Given the description of an element on the screen output the (x, y) to click on. 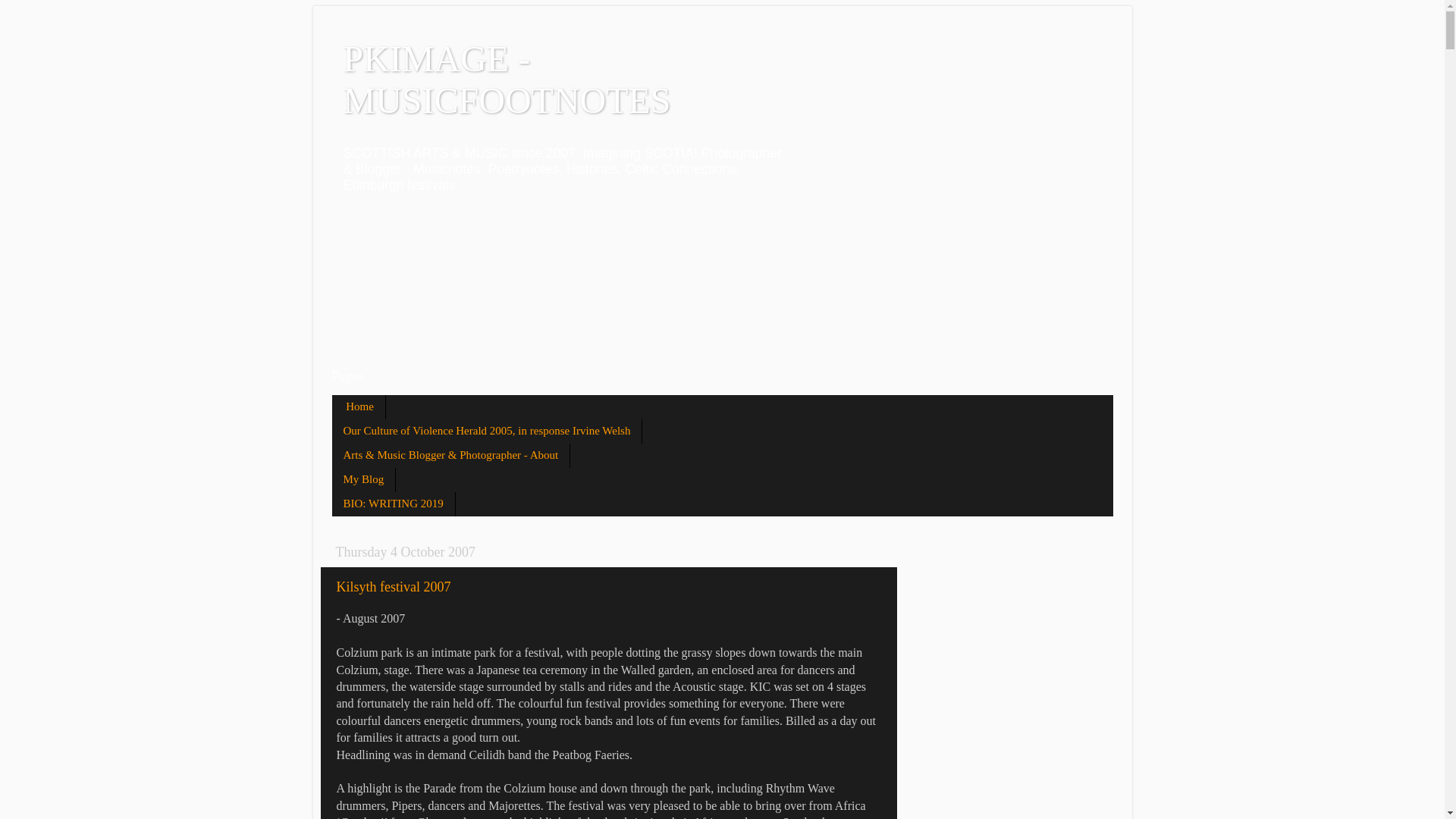
Kilsyth festival 2007 (393, 586)
Home (358, 406)
PKIMAGE - MUSICFOOTNOTES (505, 79)
BIO: WRITING 2019 (393, 504)
My Blog (363, 479)
